Given the description of an element on the screen output the (x, y) to click on. 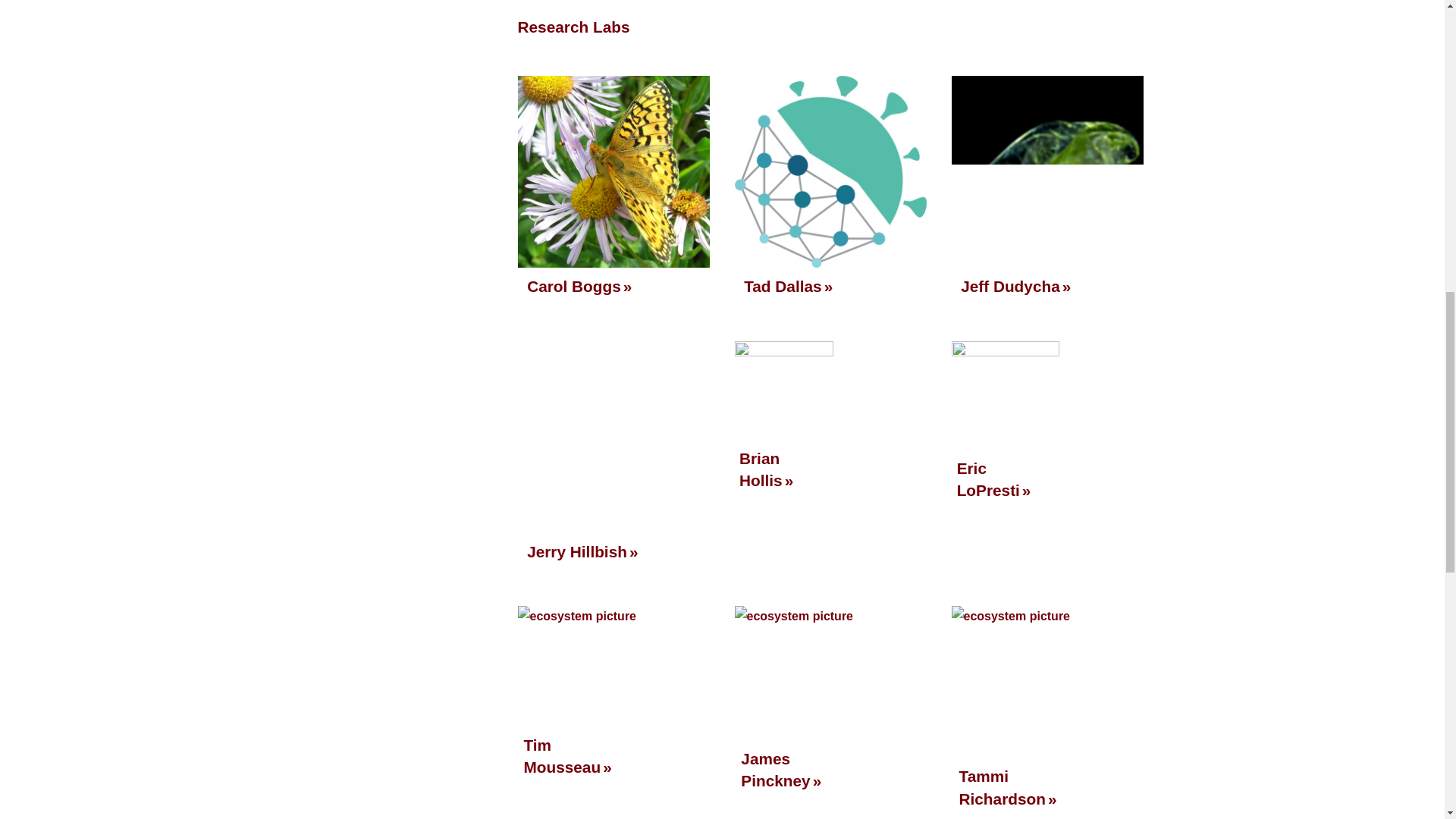
Tad Dallas' lab logo (829, 171)
